Given the description of an element on the screen output the (x, y) to click on. 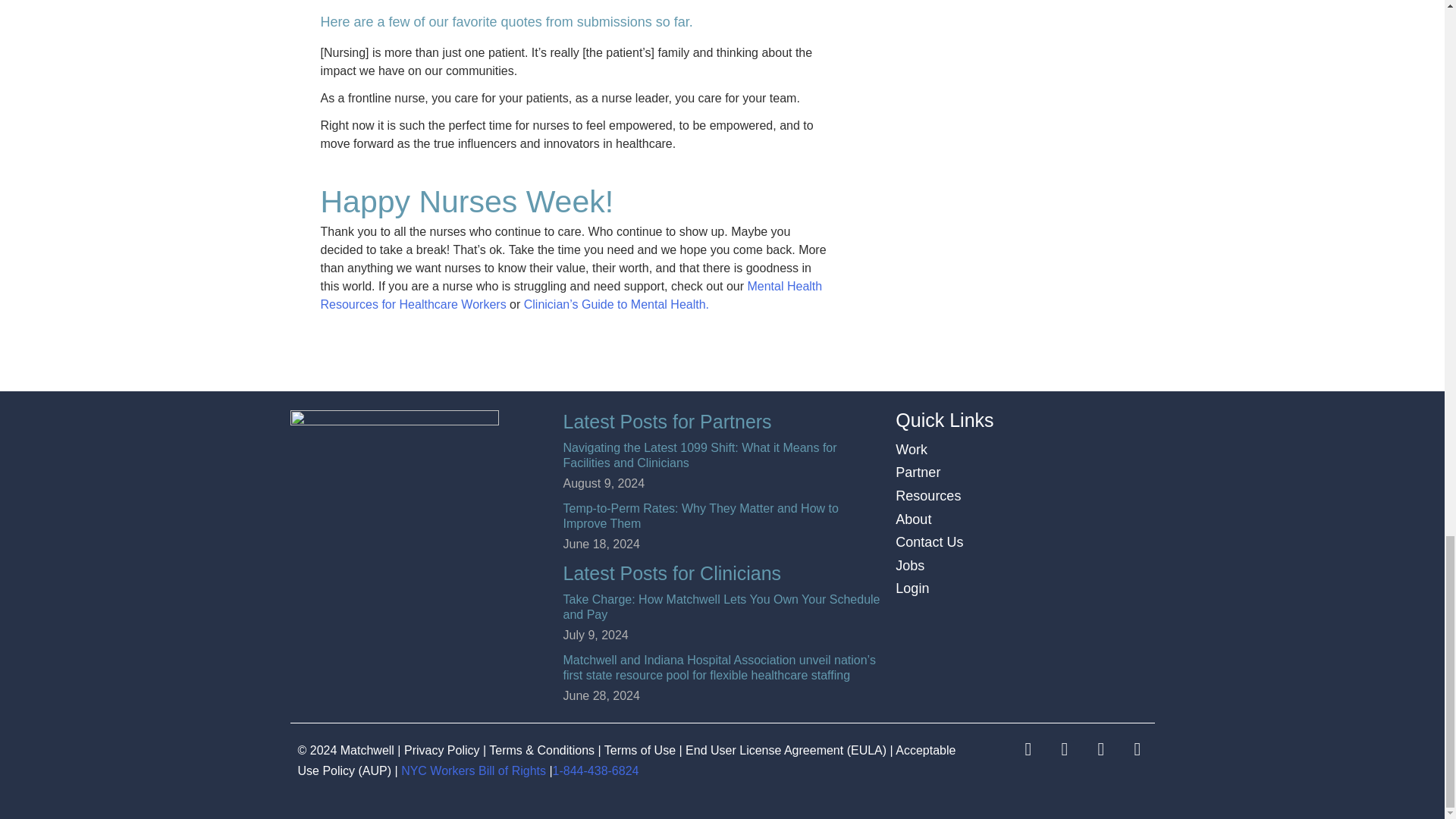
Jobs (909, 565)
Partner (917, 472)
About (913, 519)
Contact Us (928, 541)
Mental Health Resources for Healthcare Workers (571, 295)
Resources (927, 495)
Work (911, 449)
